Given the description of an element on the screen output the (x, y) to click on. 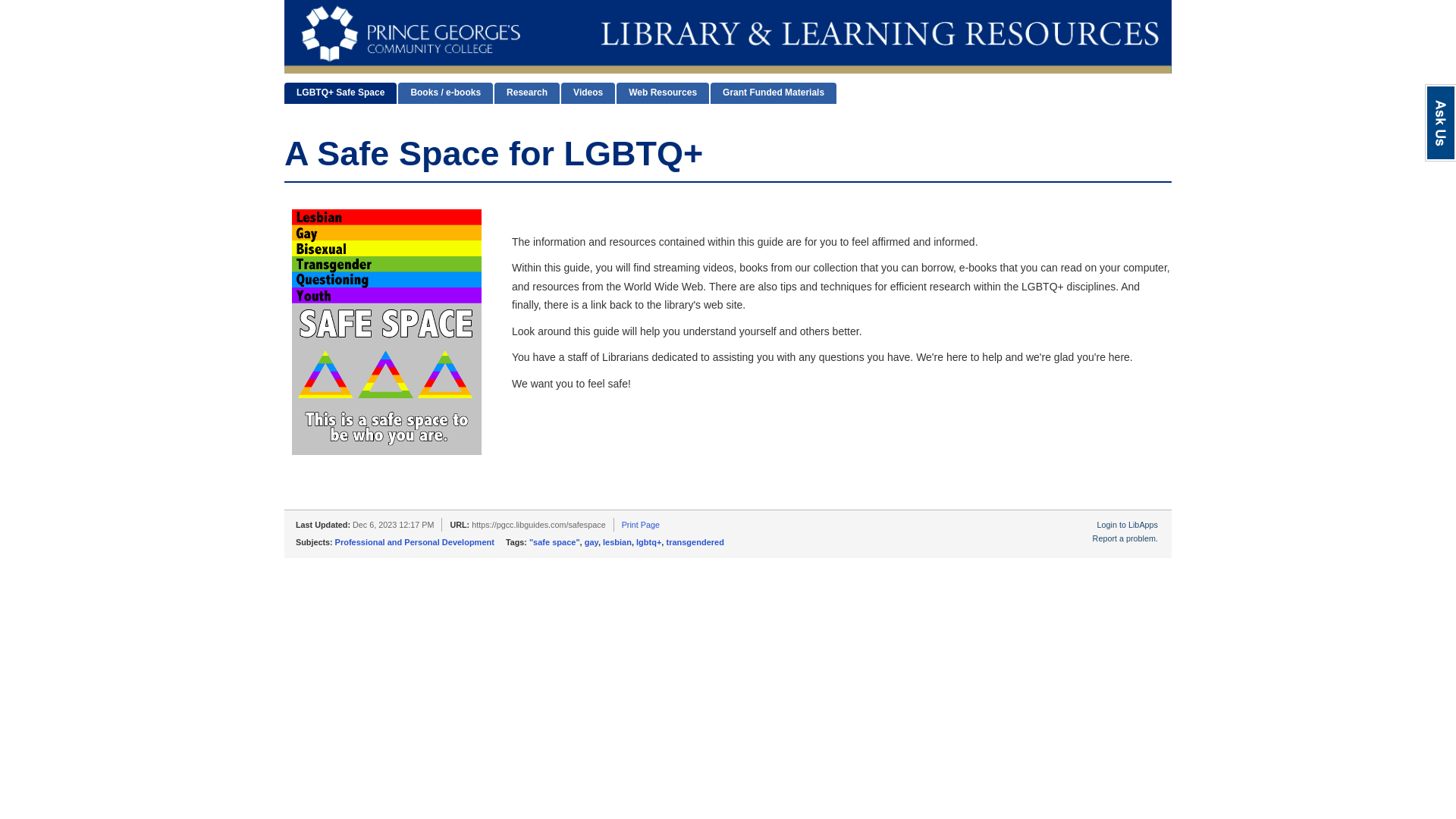
Report a problem. (1125, 537)
Grant Funded Materials (772, 92)
Videos (587, 92)
transgendered (694, 542)
Web Resources (662, 92)
lesbian (616, 542)
Professional and Personal Development (414, 542)
"safe space" (554, 542)
Print Page (640, 524)
gay (591, 542)
Research (527, 92)
Login to LibApps (1127, 524)
